Given the description of an element on the screen output the (x, y) to click on. 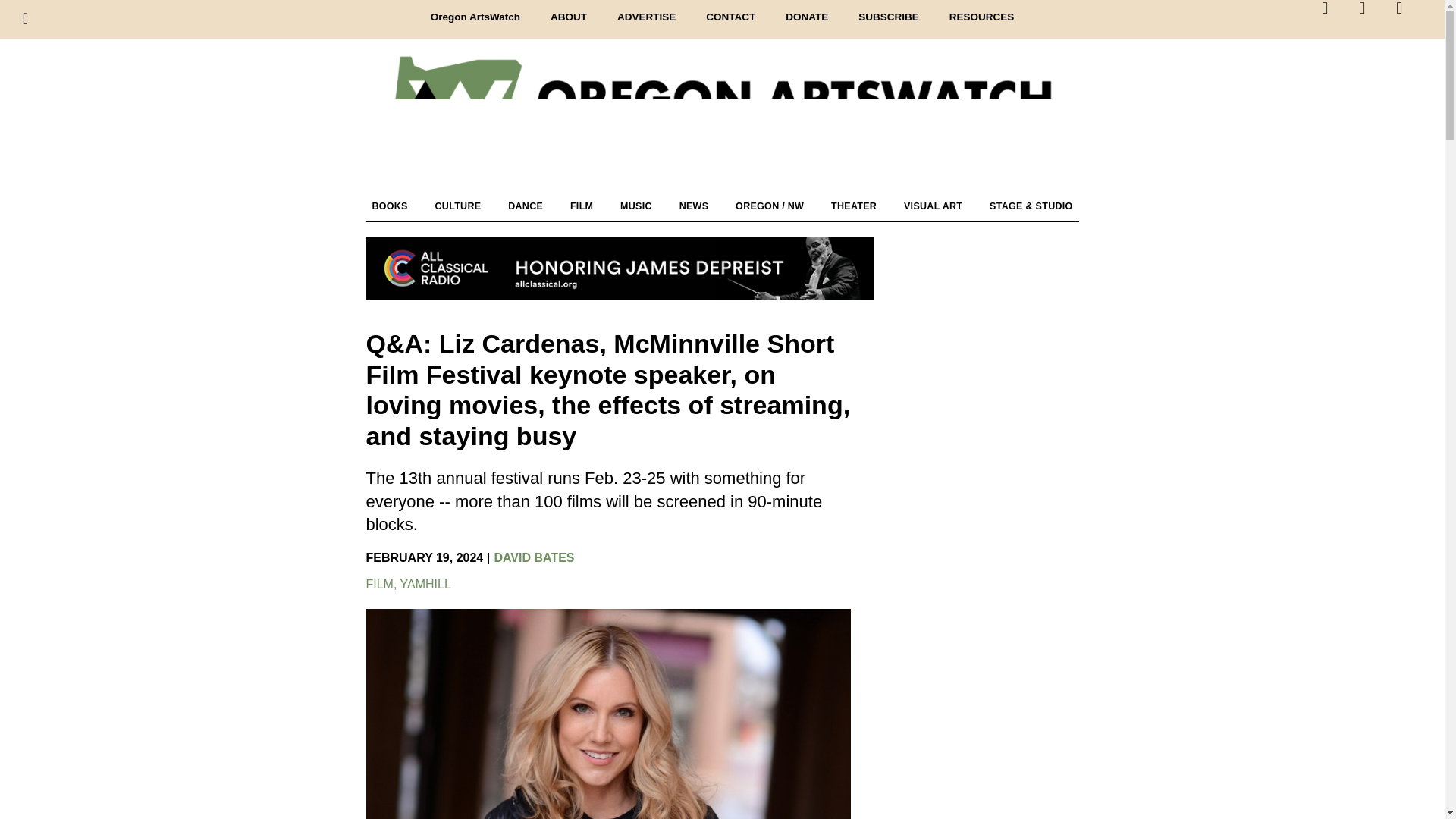
DONATE (806, 17)
ABOUT (568, 17)
RESOURCES (981, 17)
ADVERTISE (646, 17)
CONTACT (730, 17)
Oregon ArtsWatch (474, 17)
Oregon ArtsWatch (721, 122)
SUBSCRIBE (888, 17)
BOOKS (389, 205)
CULTURE (458, 205)
